Given the description of an element on the screen output the (x, y) to click on. 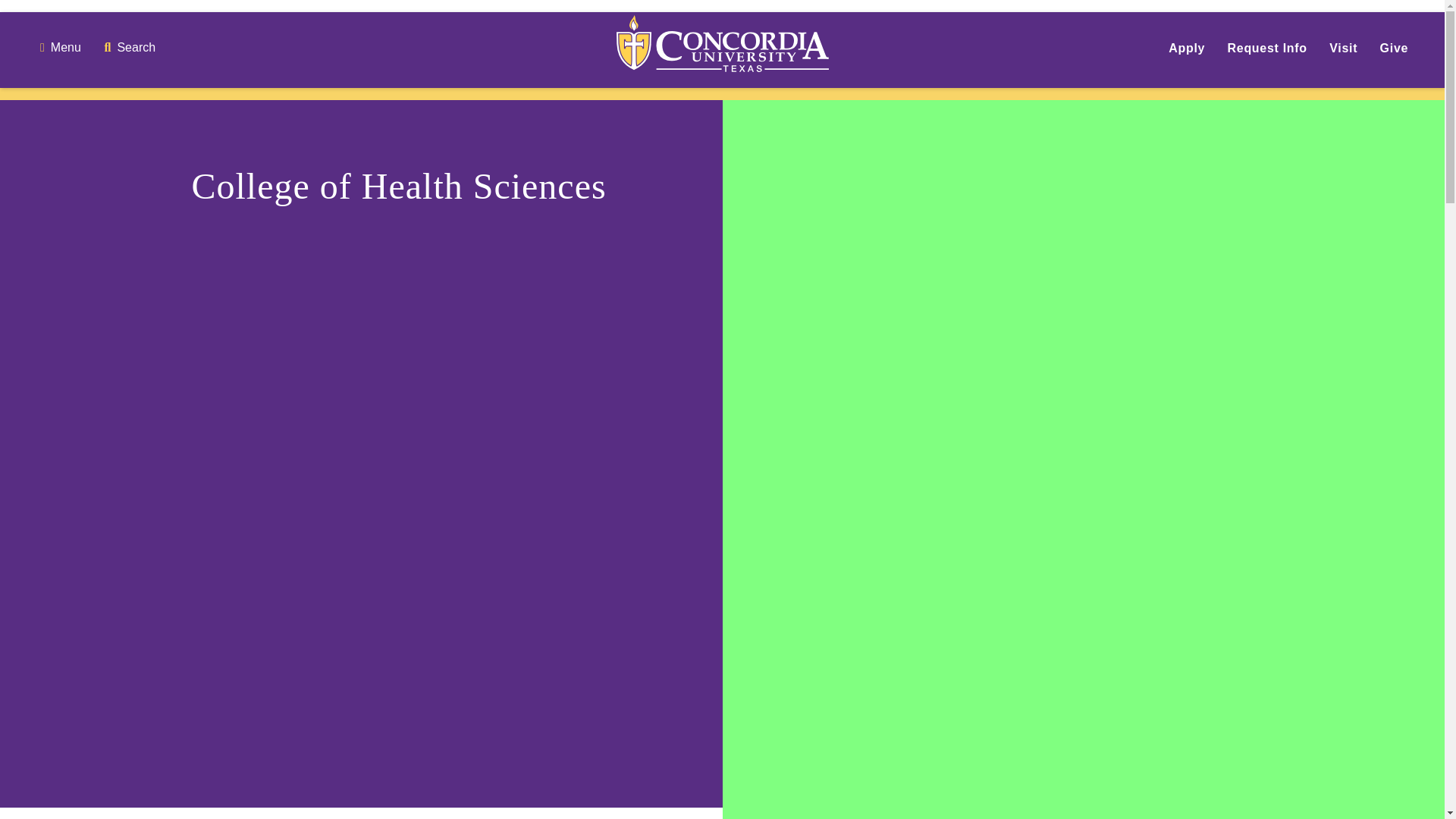
Apply to Concordia University Texas (1187, 47)
Give (1394, 47)
Apply (1187, 47)
Visit (1342, 47)
Request Info (1267, 47)
